Given the description of an element on the screen output the (x, y) to click on. 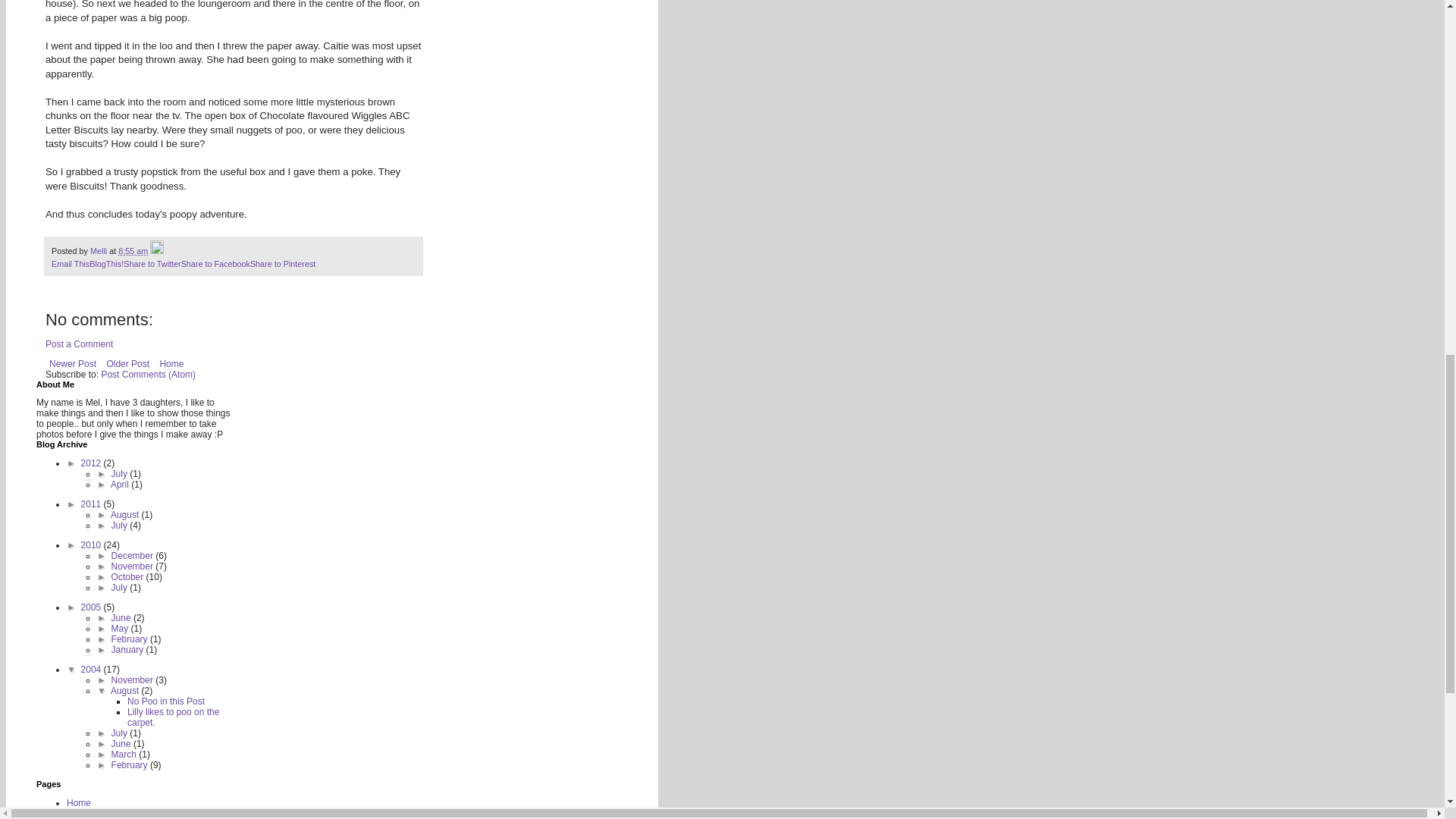
July (121, 525)
Email This (69, 263)
2005 (92, 606)
November (133, 566)
2011 (92, 503)
Post a Comment (79, 344)
August (125, 514)
Edit Post (156, 250)
permanent link (132, 250)
2010 (92, 544)
BlogThis! (105, 263)
Home (171, 363)
BlogThis! (105, 263)
Newer Post (72, 363)
Share to Twitter (151, 263)
